Given the description of an element on the screen output the (x, y) to click on. 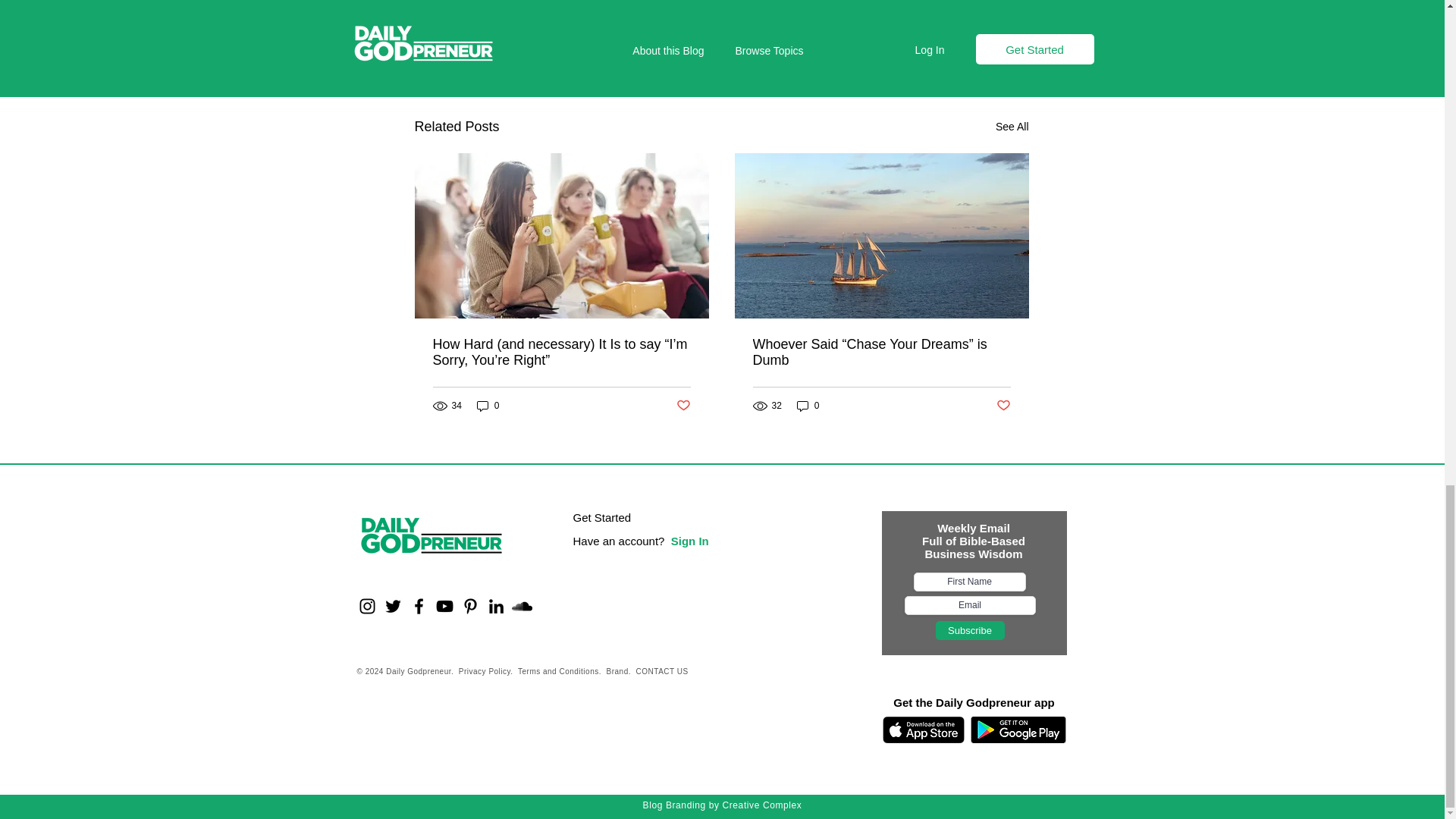
Facebook Like (451, 720)
Articles (966, 2)
Post not marked as liked (683, 406)
See All (1012, 127)
Post not marked as liked (976, 44)
0 (488, 405)
